Given the description of an element on the screen output the (x, y) to click on. 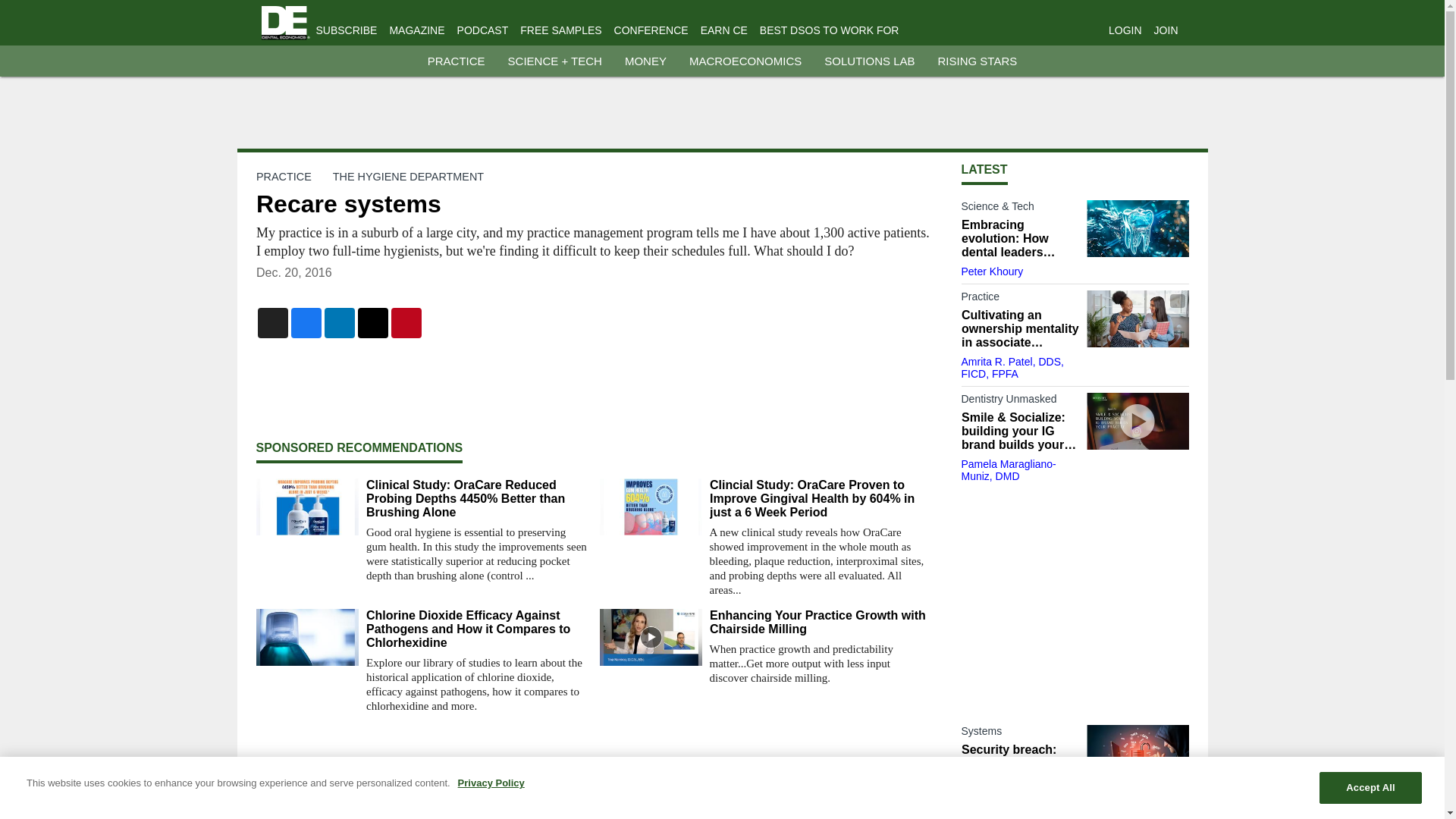
JOIN (1165, 30)
PRACTICE (456, 60)
FREE SAMPLES (560, 30)
RISING STARS (976, 60)
SOLUTIONS LAB (869, 60)
CONFERENCE (651, 30)
SUBSCRIBE (346, 30)
LOGIN (1124, 30)
PODCAST (482, 30)
MONEY (645, 60)
EARN CE (724, 30)
MACROECONOMICS (745, 60)
BEST DSOS TO WORK FOR (829, 30)
MAGAZINE (416, 30)
